Given the description of an element on the screen output the (x, y) to click on. 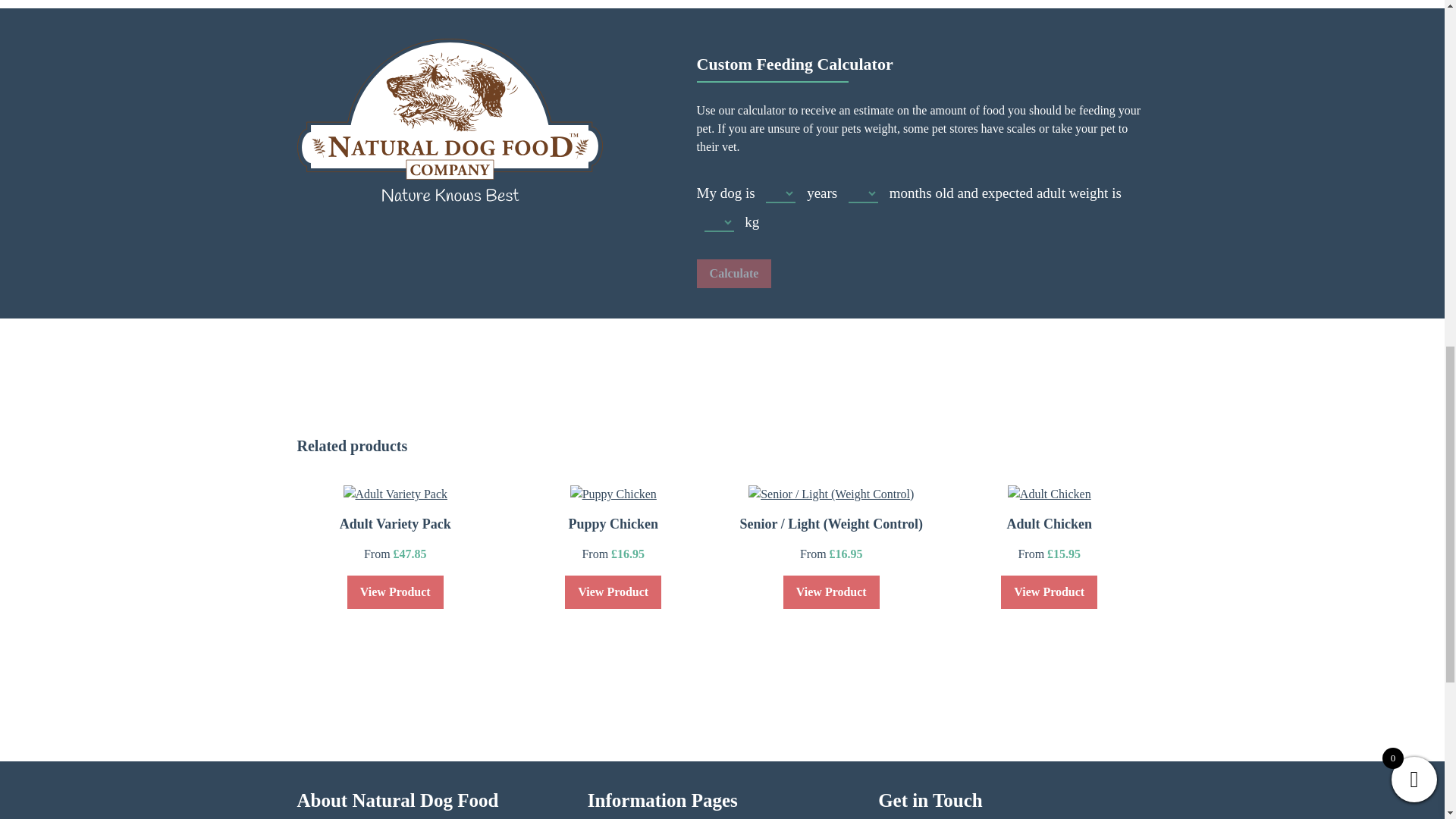
Calculate (734, 273)
View Product (395, 592)
View Product (831, 592)
View Product (612, 592)
